Given the description of an element on the screen output the (x, y) to click on. 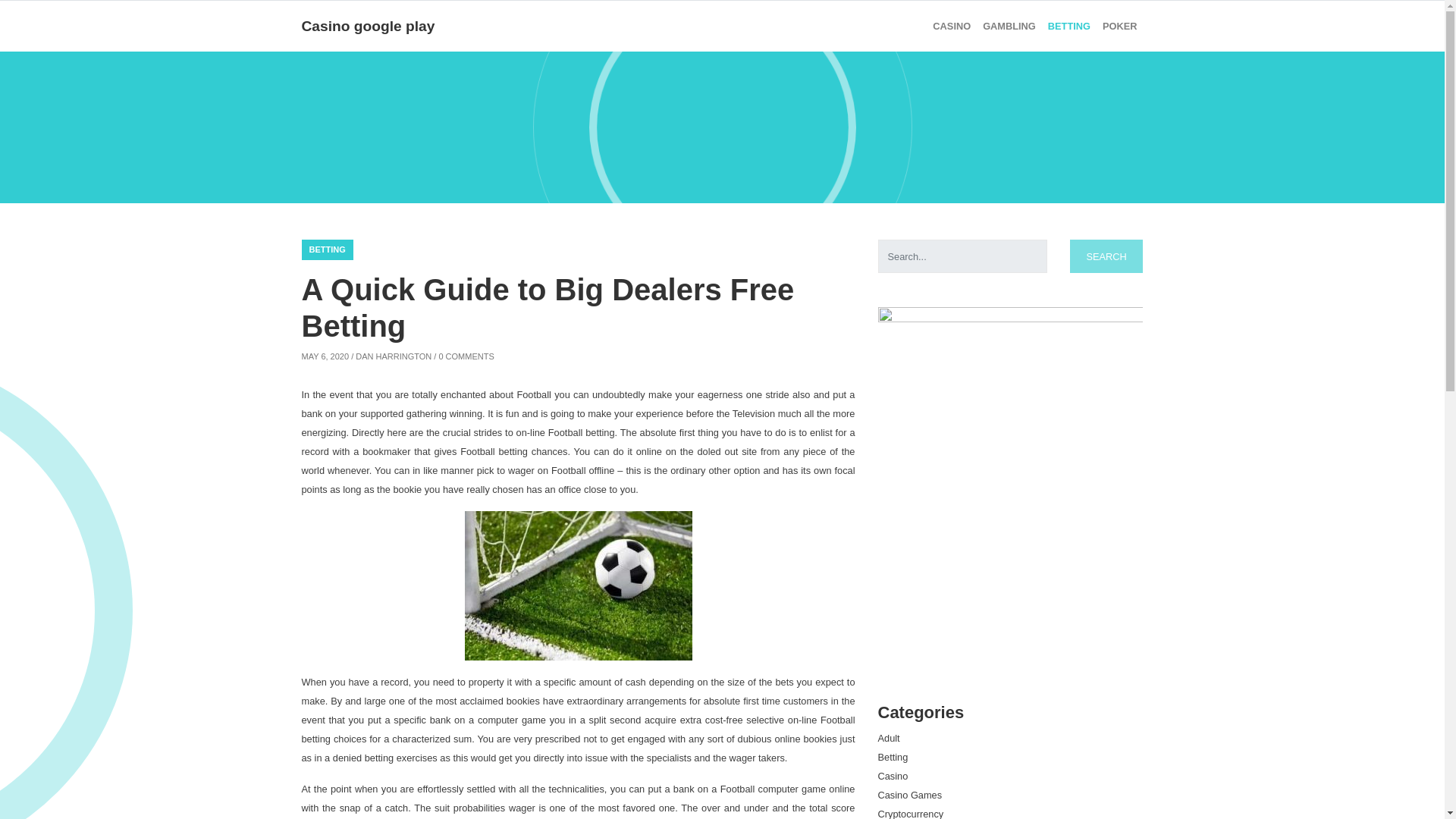
CASINO (951, 26)
Search (1106, 255)
Casino Games (909, 794)
Betting (892, 756)
DAN HARRINGTON (392, 356)
Poker (1119, 26)
Betting (1069, 26)
Casino (951, 26)
Casino (892, 776)
Casino google play (368, 25)
